Given the description of an element on the screen output the (x, y) to click on. 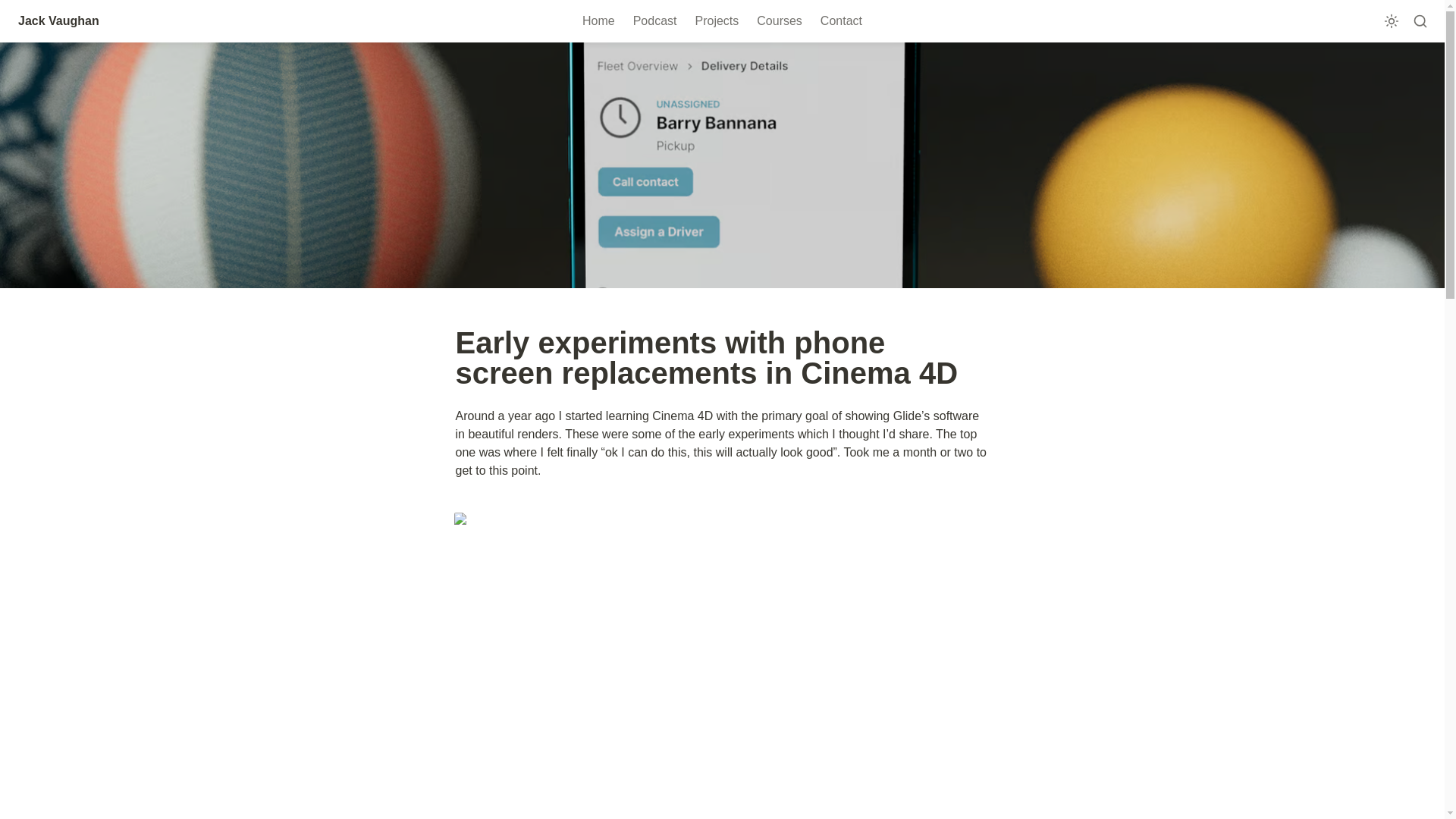
Home (598, 21)
Contact (840, 21)
Podcast (654, 21)
Courses (779, 21)
Jack Vaughan (58, 21)
Projects (716, 21)
